Given the description of an element on the screen output the (x, y) to click on. 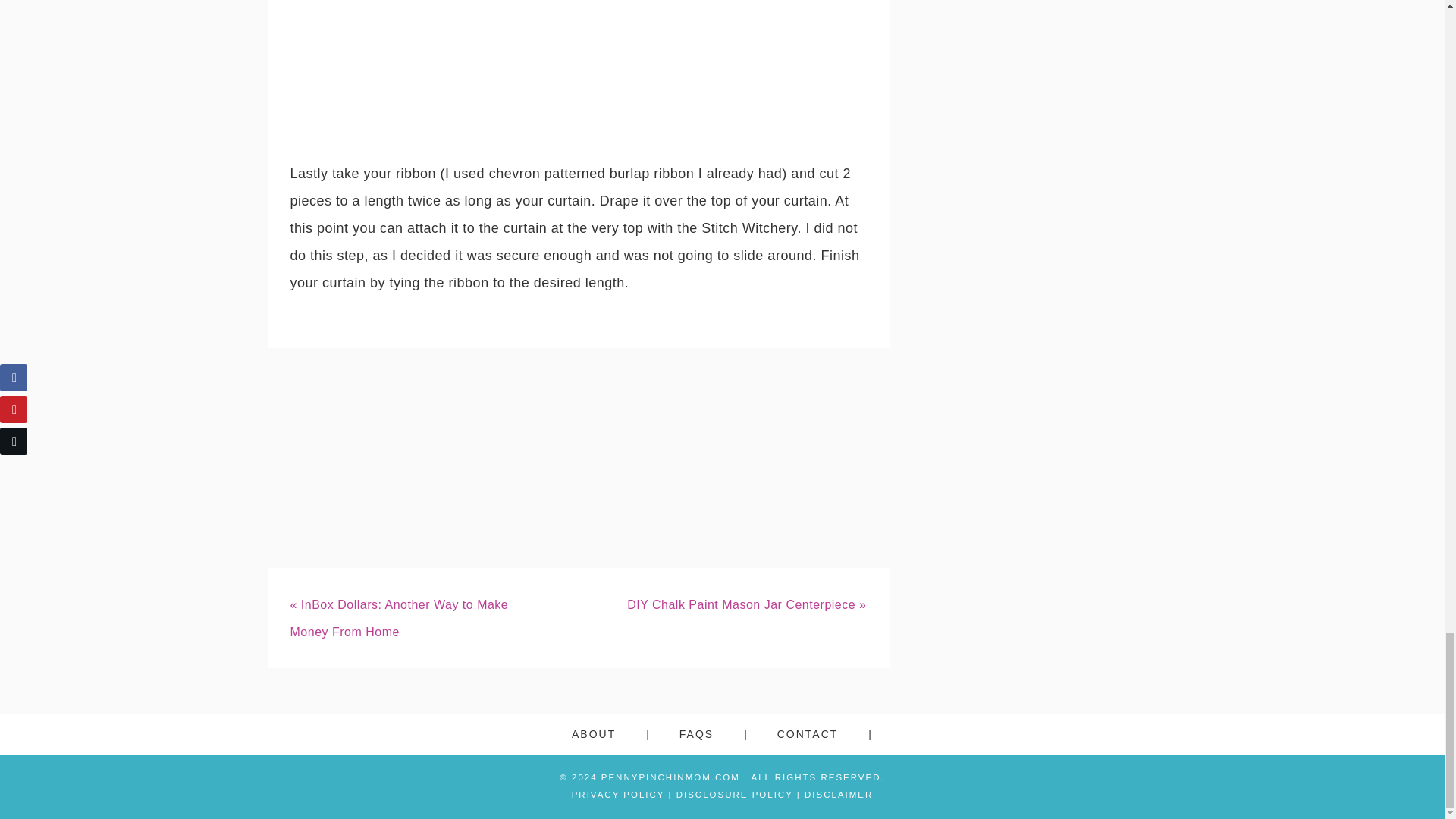
FAQS (713, 733)
CONTACT (825, 733)
ABOUT (610, 733)
